Given the description of an element on the screen output the (x, y) to click on. 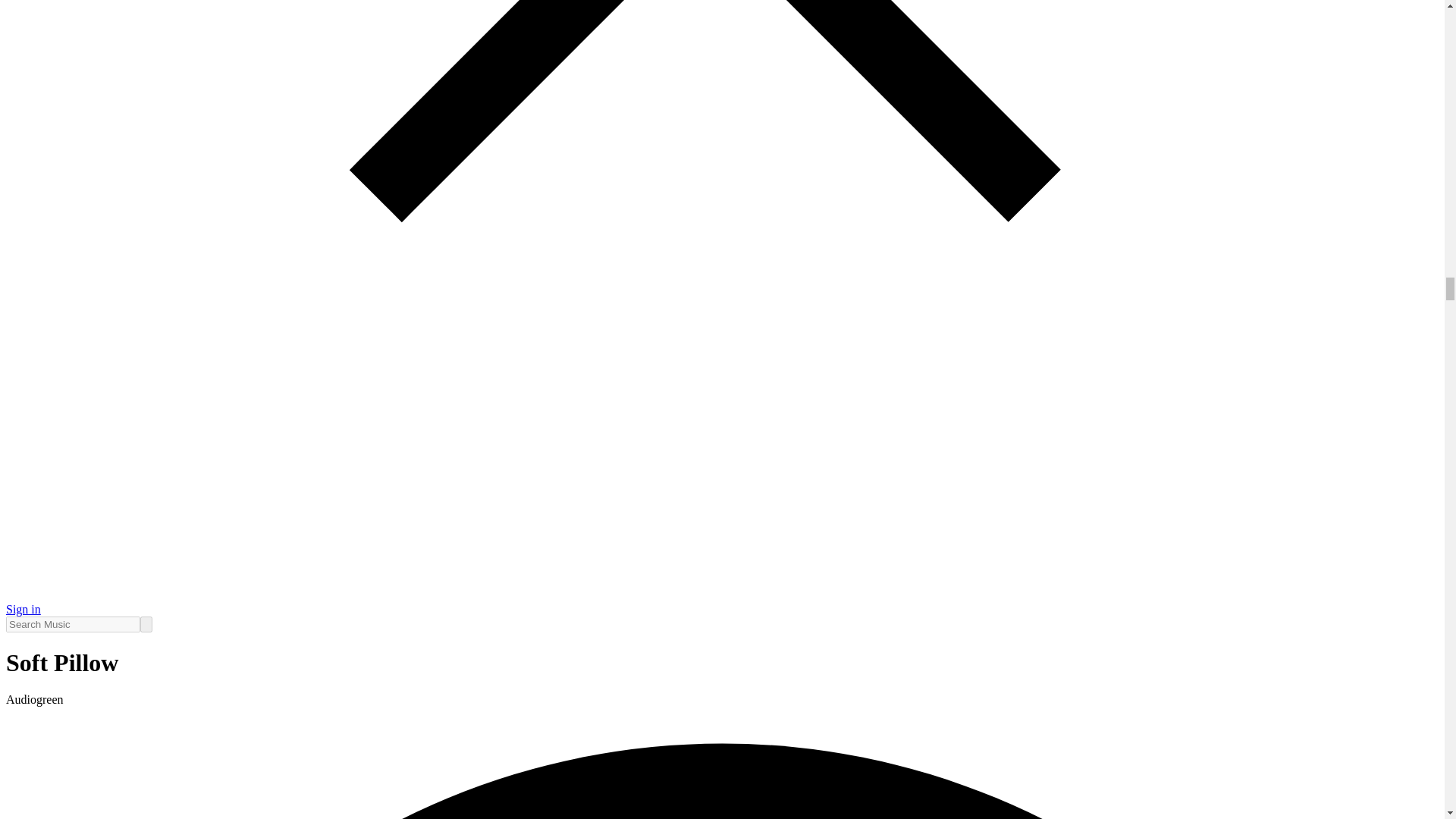
Sign in (22, 608)
